Given the description of an element on the screen output the (x, y) to click on. 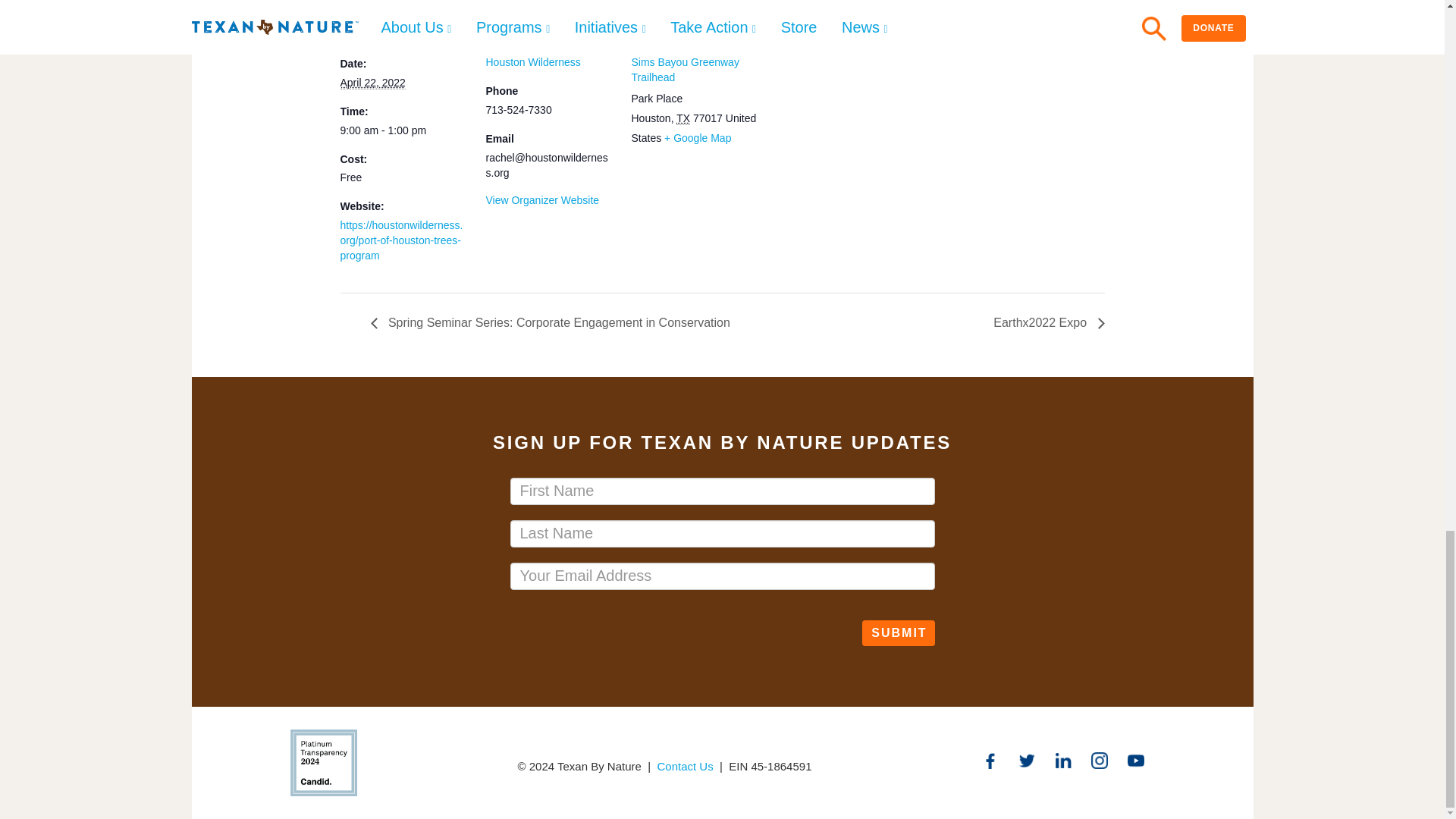
Click to view a Google Map (696, 137)
Submit (897, 633)
Houston Wilderness (531, 61)
2022-04-22 (371, 82)
Texas (683, 118)
2022-04-22 (403, 130)
